Given the description of an element on the screen output the (x, y) to click on. 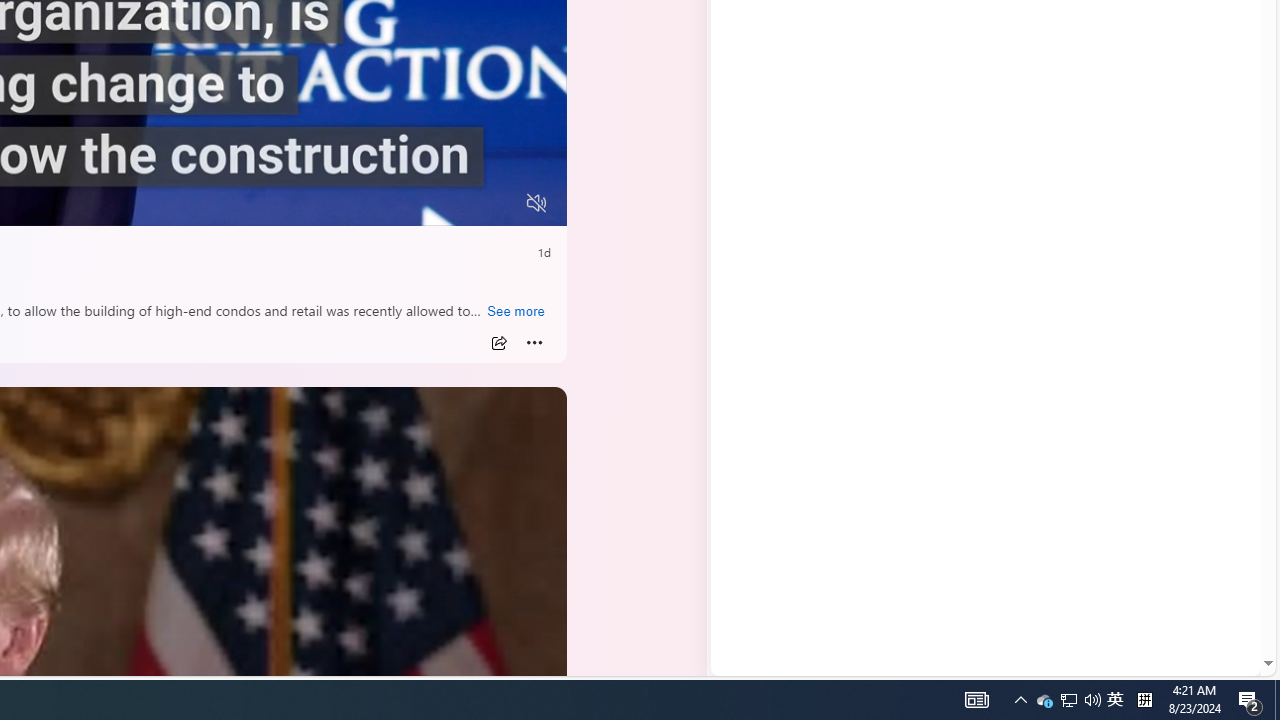
Fullscreen (497, 203)
Quality Settings (418, 203)
Unmute (535, 203)
